Given the description of an element on the screen output the (x, y) to click on. 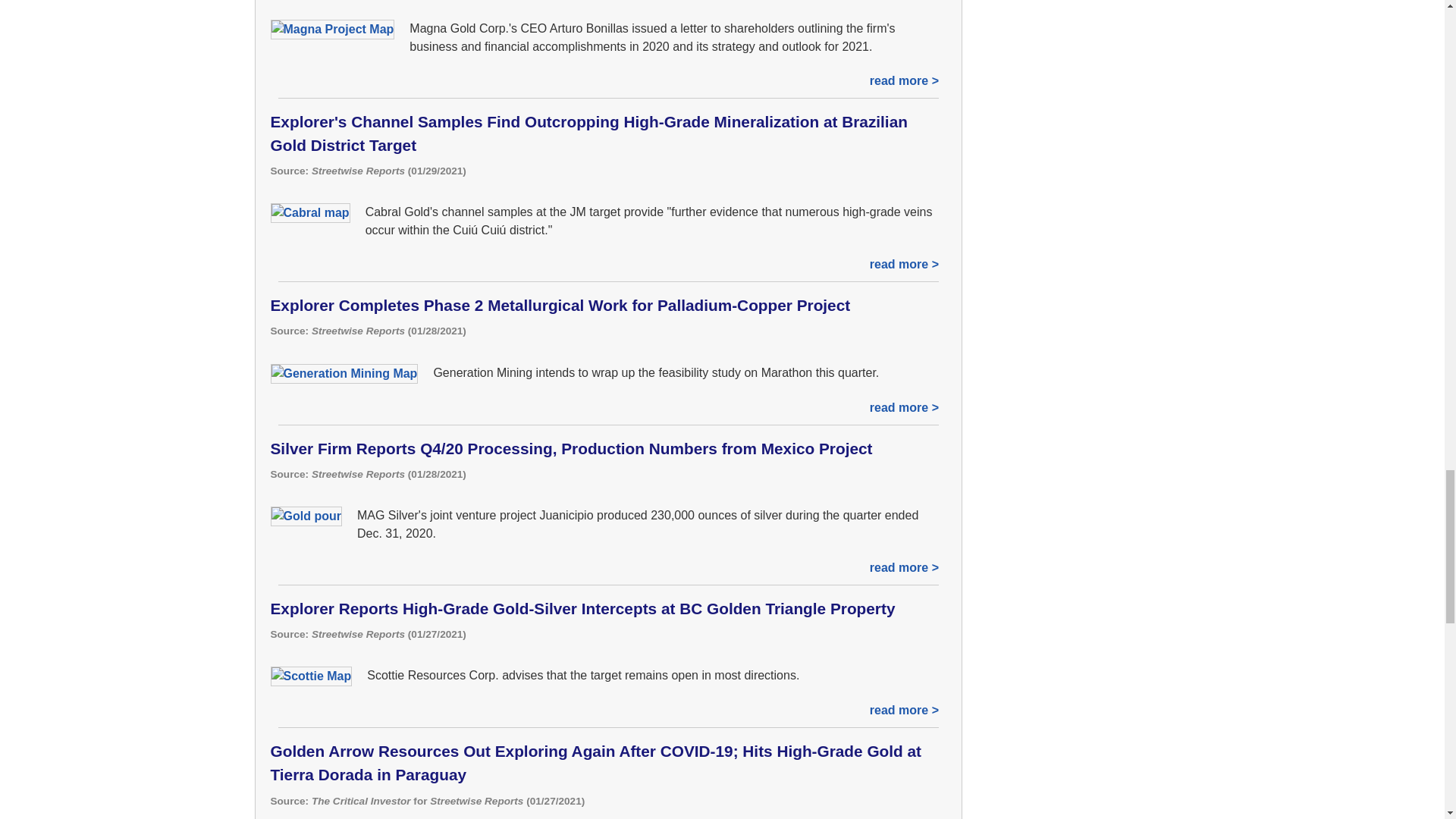
Scottie Map (310, 676)
Generation Mining Map (343, 373)
Cabral map (309, 212)
Gold pour (304, 516)
